Given the description of an element on the screen output the (x, y) to click on. 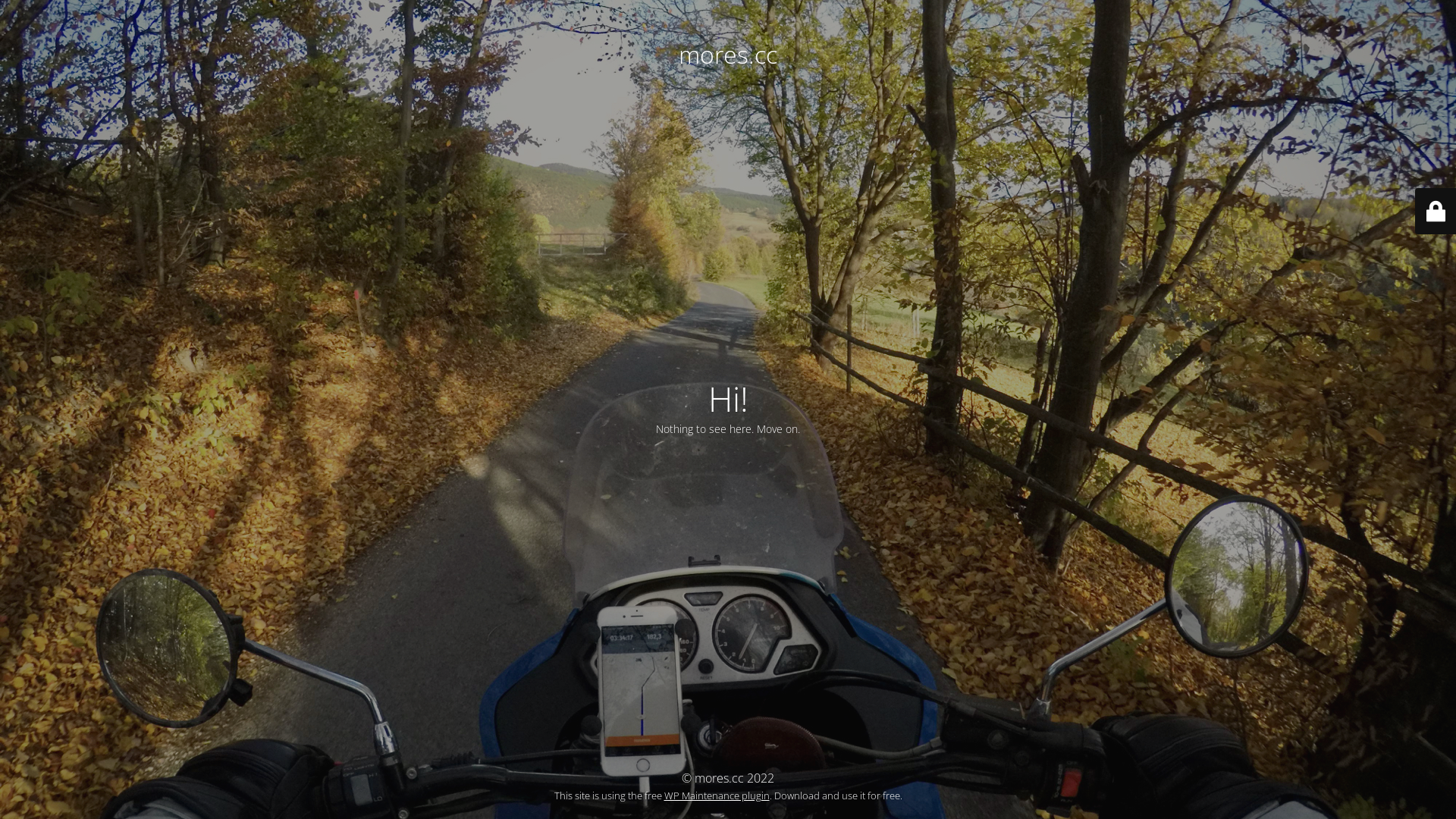
WP Maintenance plugin Element type: text (716, 795)
